Given the description of an element on the screen output the (x, y) to click on. 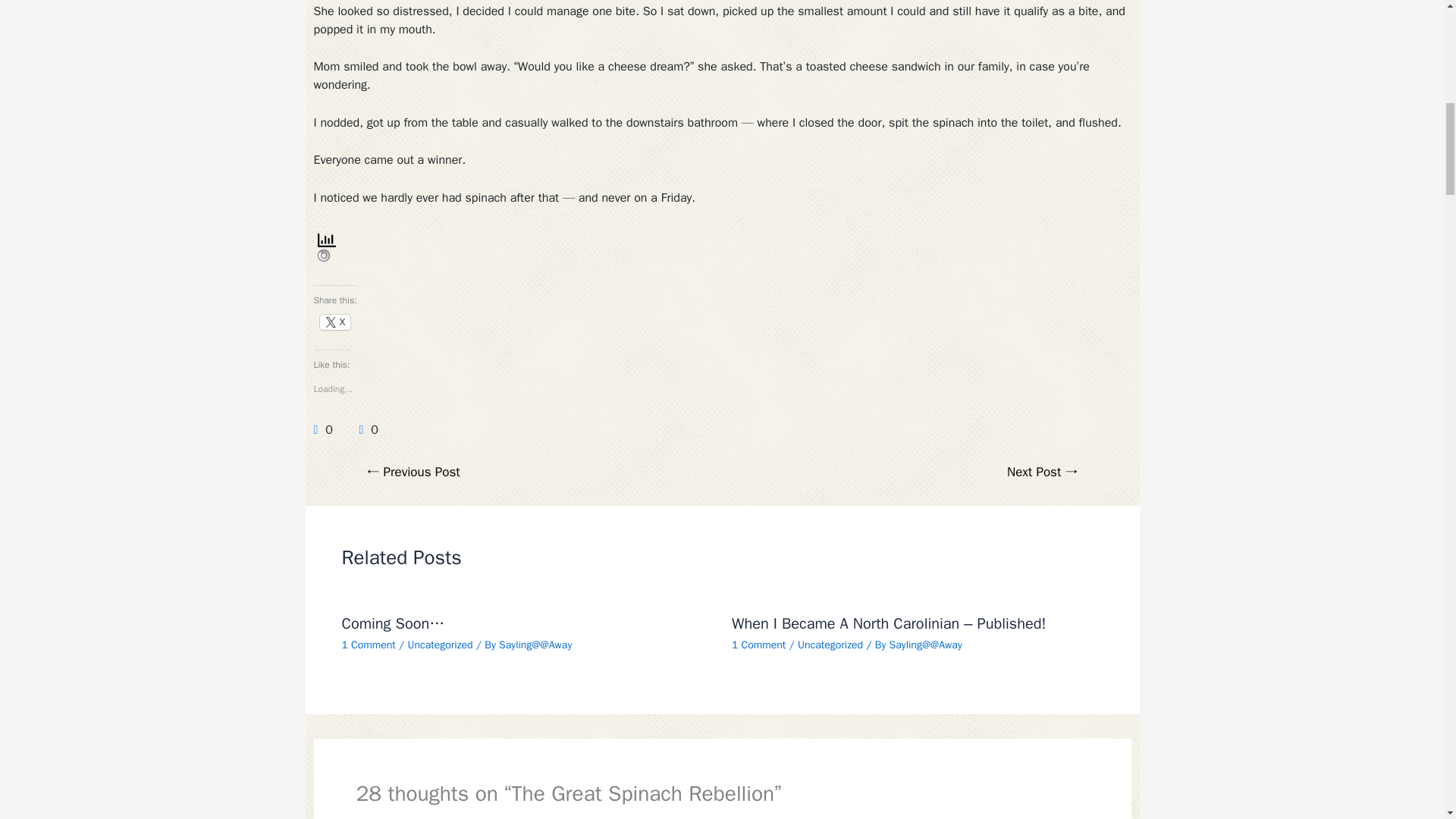
1 Comment (367, 644)
X (335, 322)
Click to share on X (335, 322)
Uncategorized (440, 644)
